Given the description of an element on the screen output the (x, y) to click on. 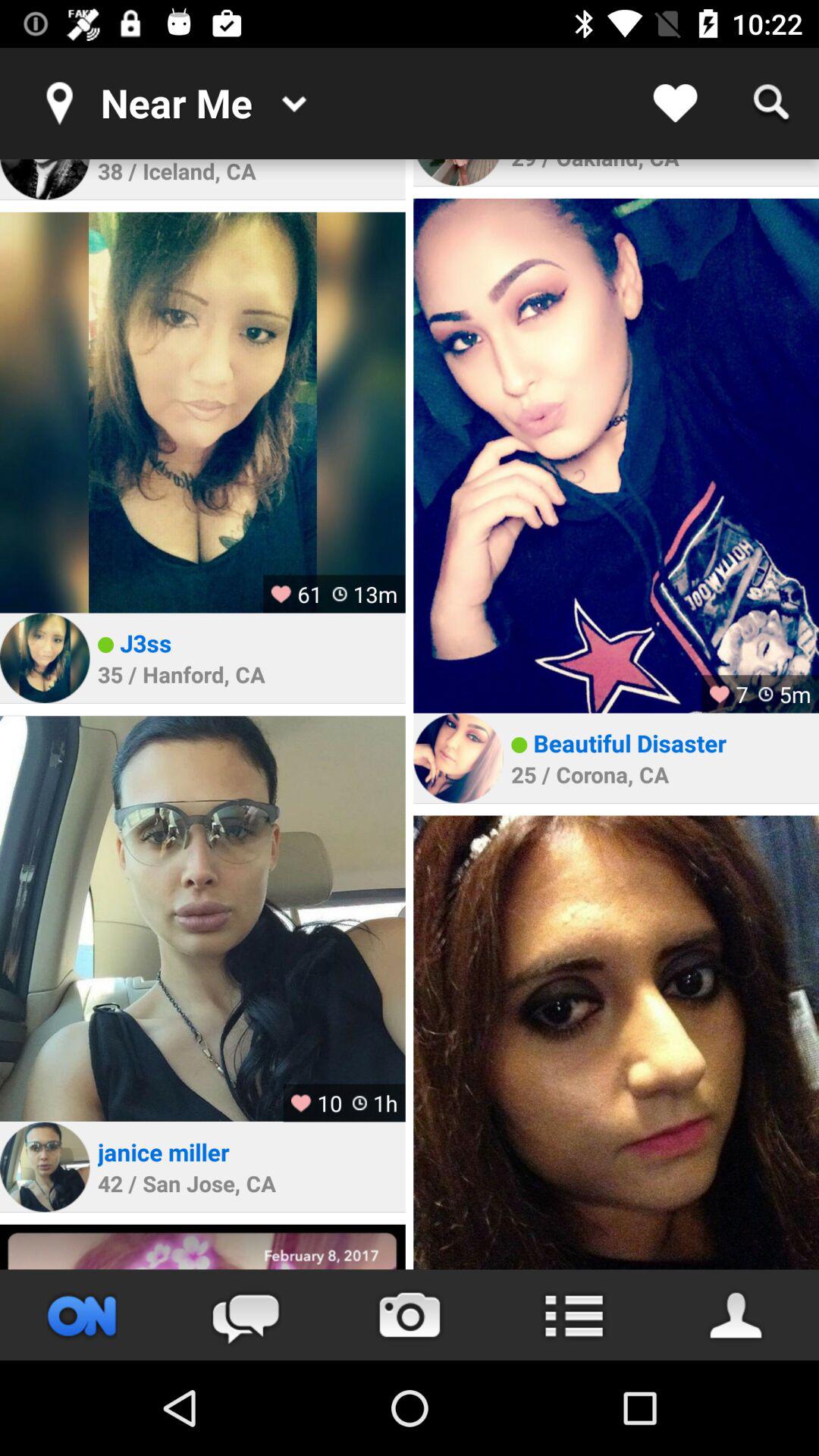
profile (737, 1315)
